Given the description of an element on the screen output the (x, y) to click on. 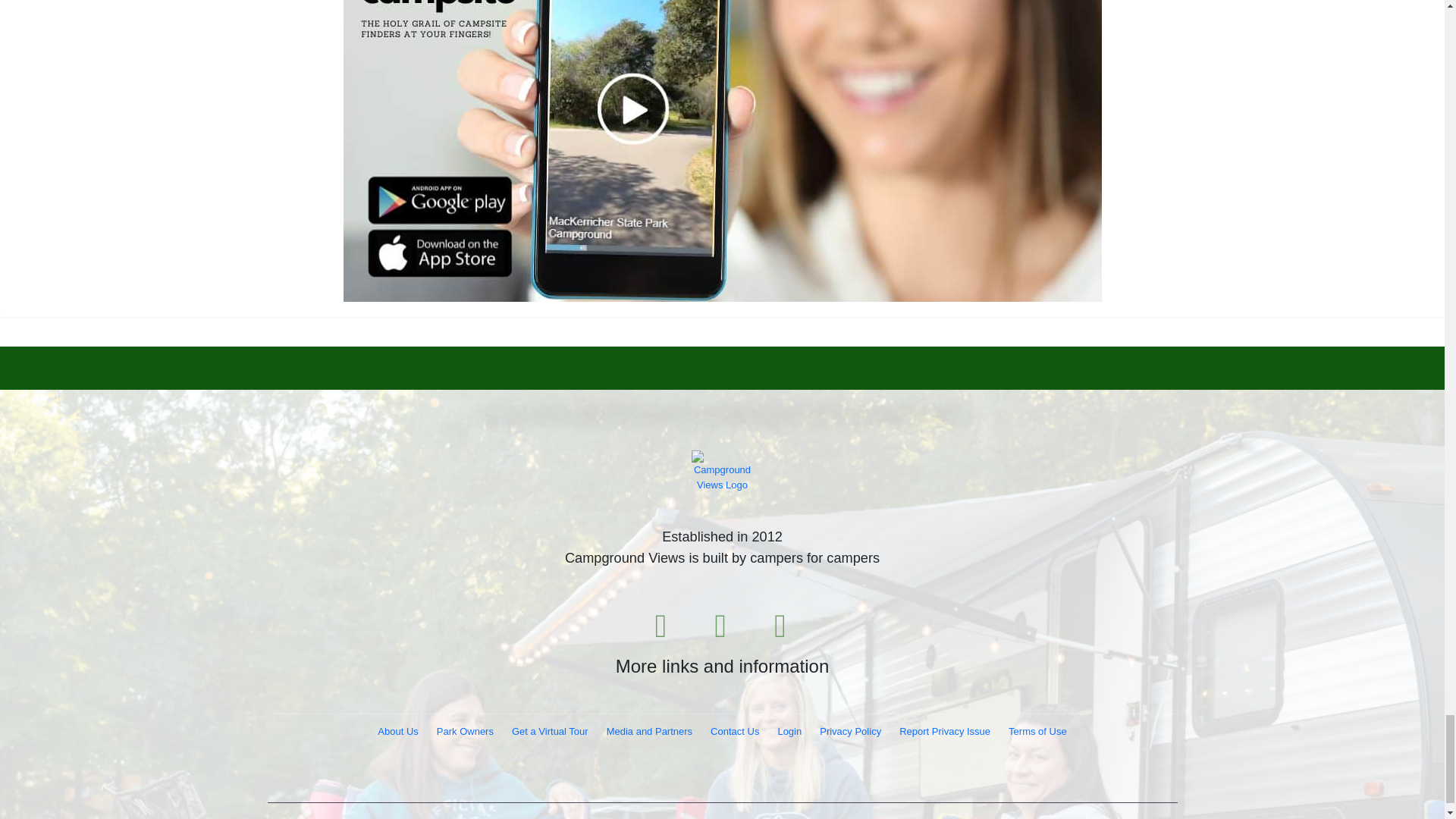
About Us (397, 731)
Park Owners (465, 731)
Get a Virtual Tour (549, 731)
